Given the description of an element on the screen output the (x, y) to click on. 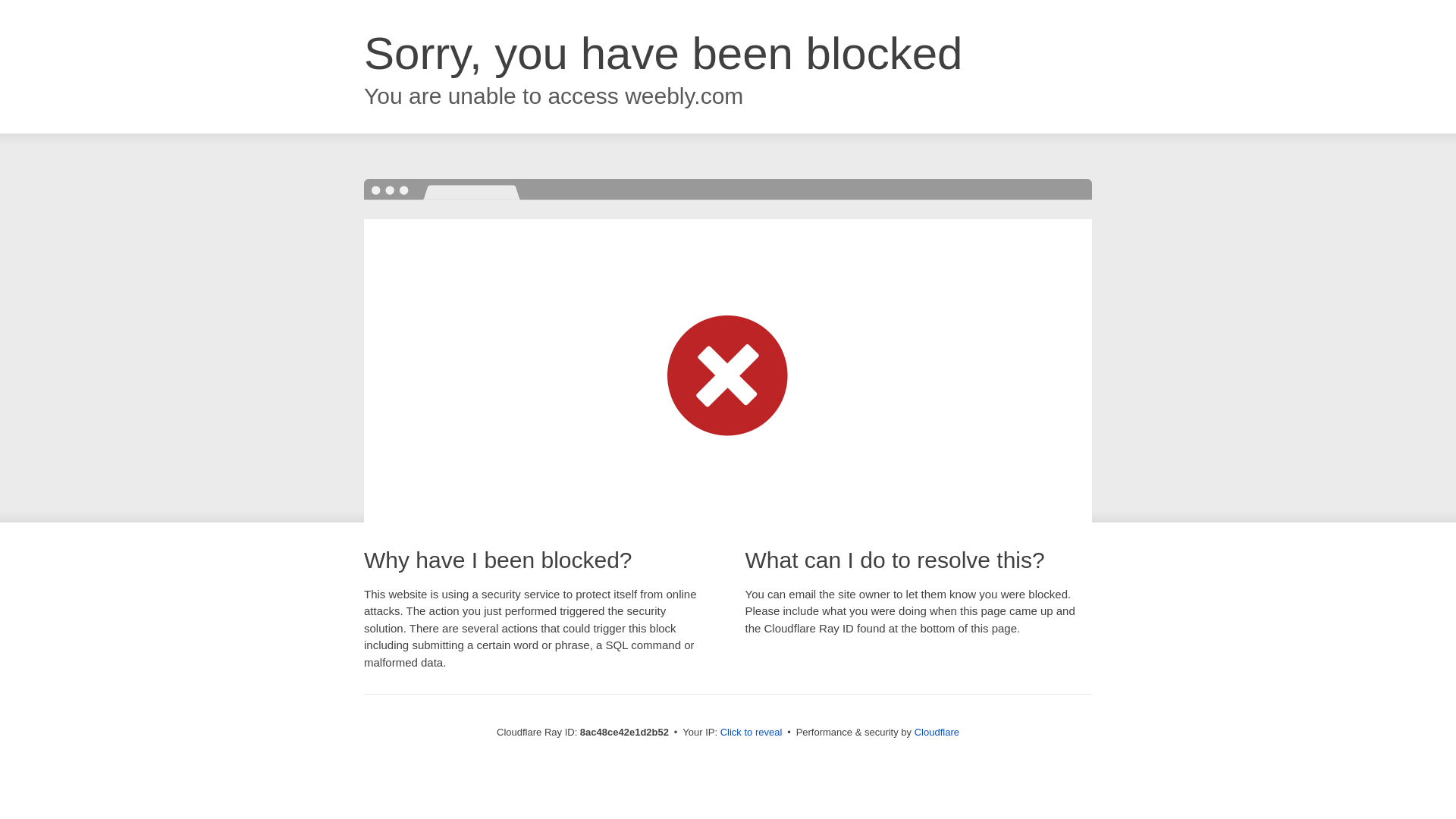
Cloudflare (936, 731)
Click to reveal (751, 732)
